Given the description of an element on the screen output the (x, y) to click on. 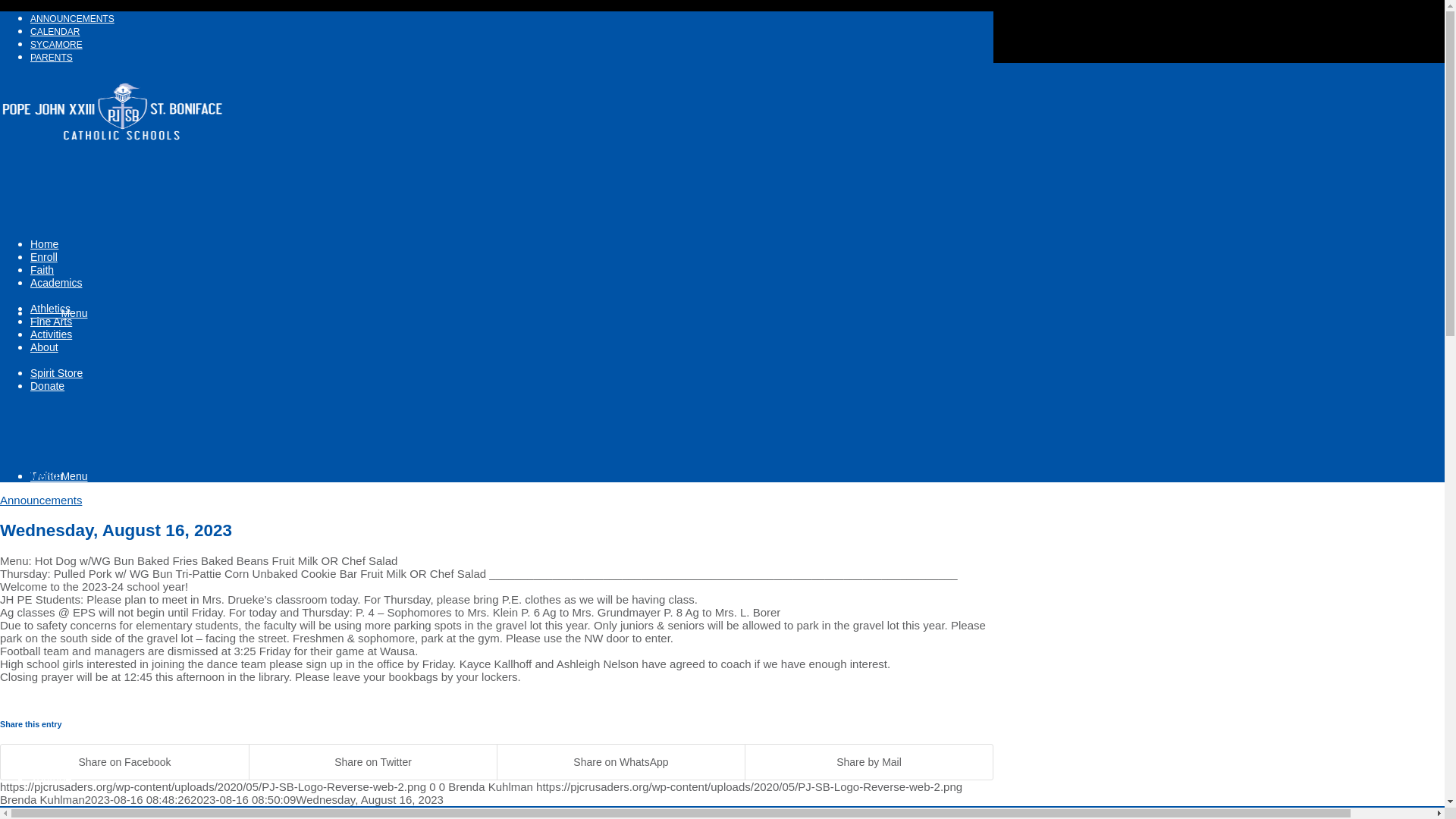
Fine Arts (50, 321)
Enroll (44, 256)
Donate (47, 386)
PJ-SB-Logo-Reverse-web (113, 115)
Youtube (50, 779)
Daily Announcements (72, 18)
About (44, 346)
Menu Menu (58, 476)
Donate (47, 386)
Youtube (50, 779)
Home (44, 244)
SYCAMORE (56, 44)
CALENDAR (55, 31)
PJ-SB-Logo-Reverse-web (113, 149)
Academics (55, 282)
